Given the description of an element on the screen output the (x, y) to click on. 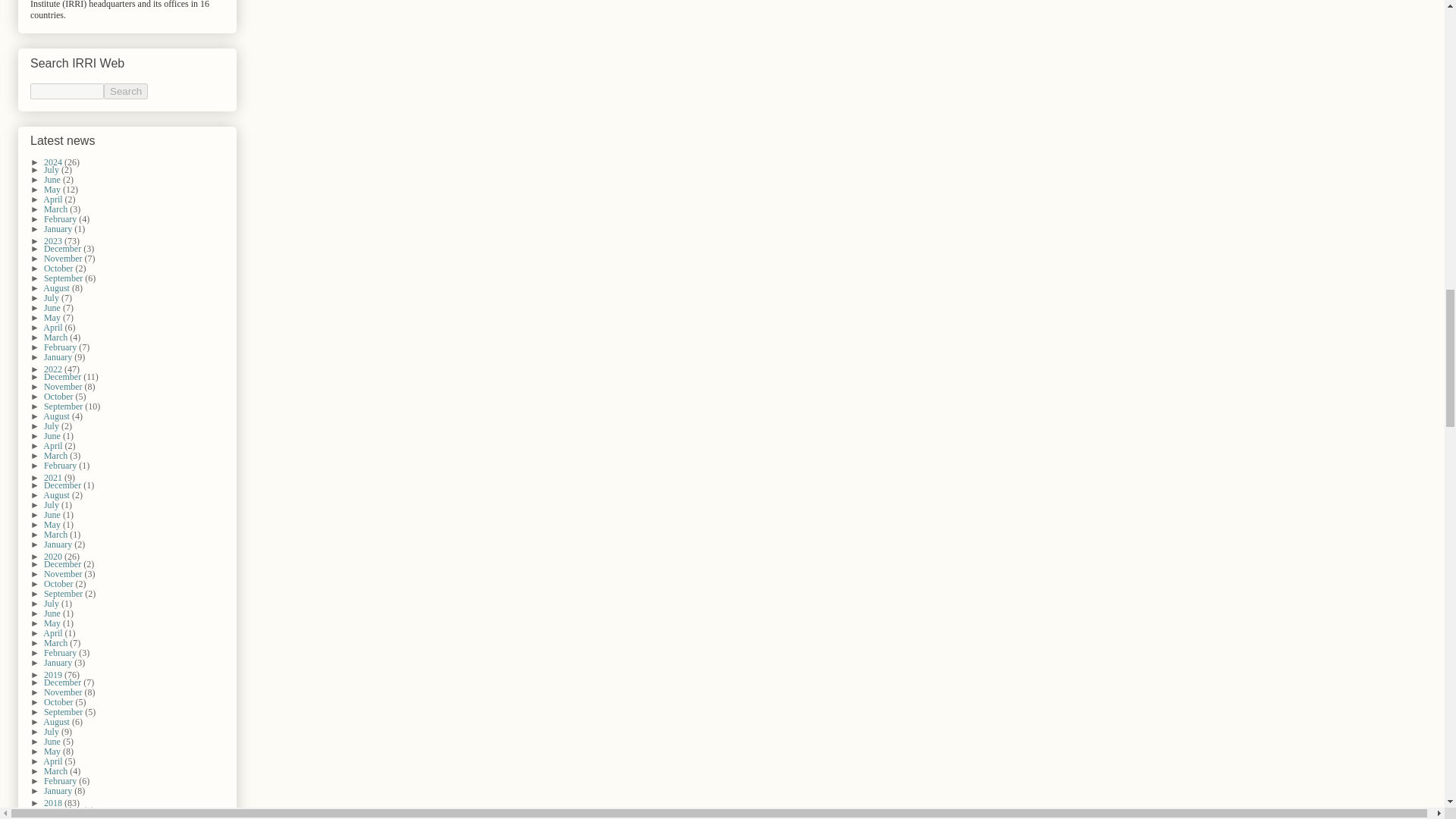
June (52, 179)
2024 (53, 162)
May (52, 189)
July (52, 169)
Search (125, 91)
search (125, 91)
Search (125, 91)
Search (125, 91)
search (66, 91)
